Given the description of an element on the screen output the (x, y) to click on. 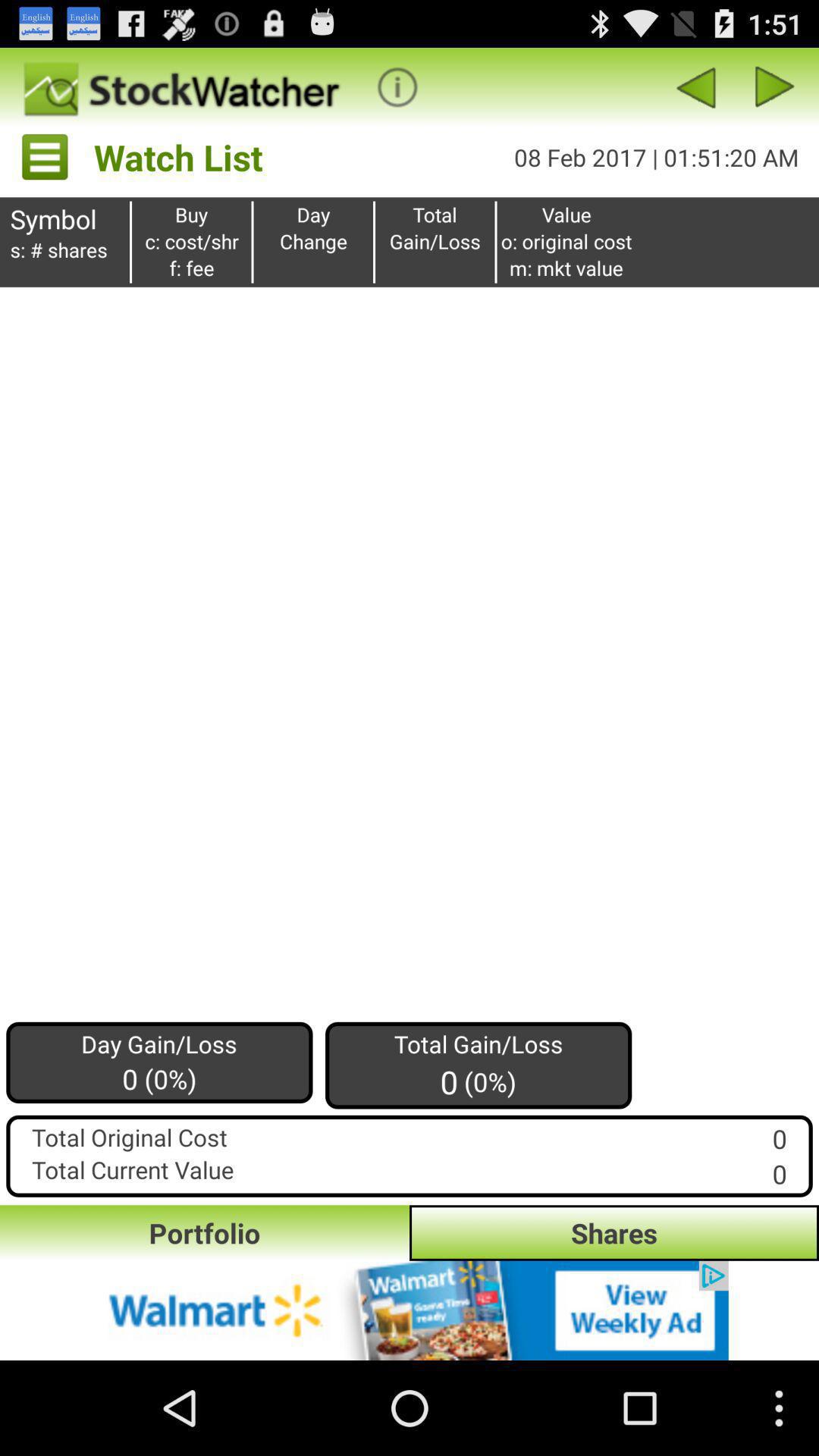
go to next (775, 87)
